Given the description of an element on the screen output the (x, y) to click on. 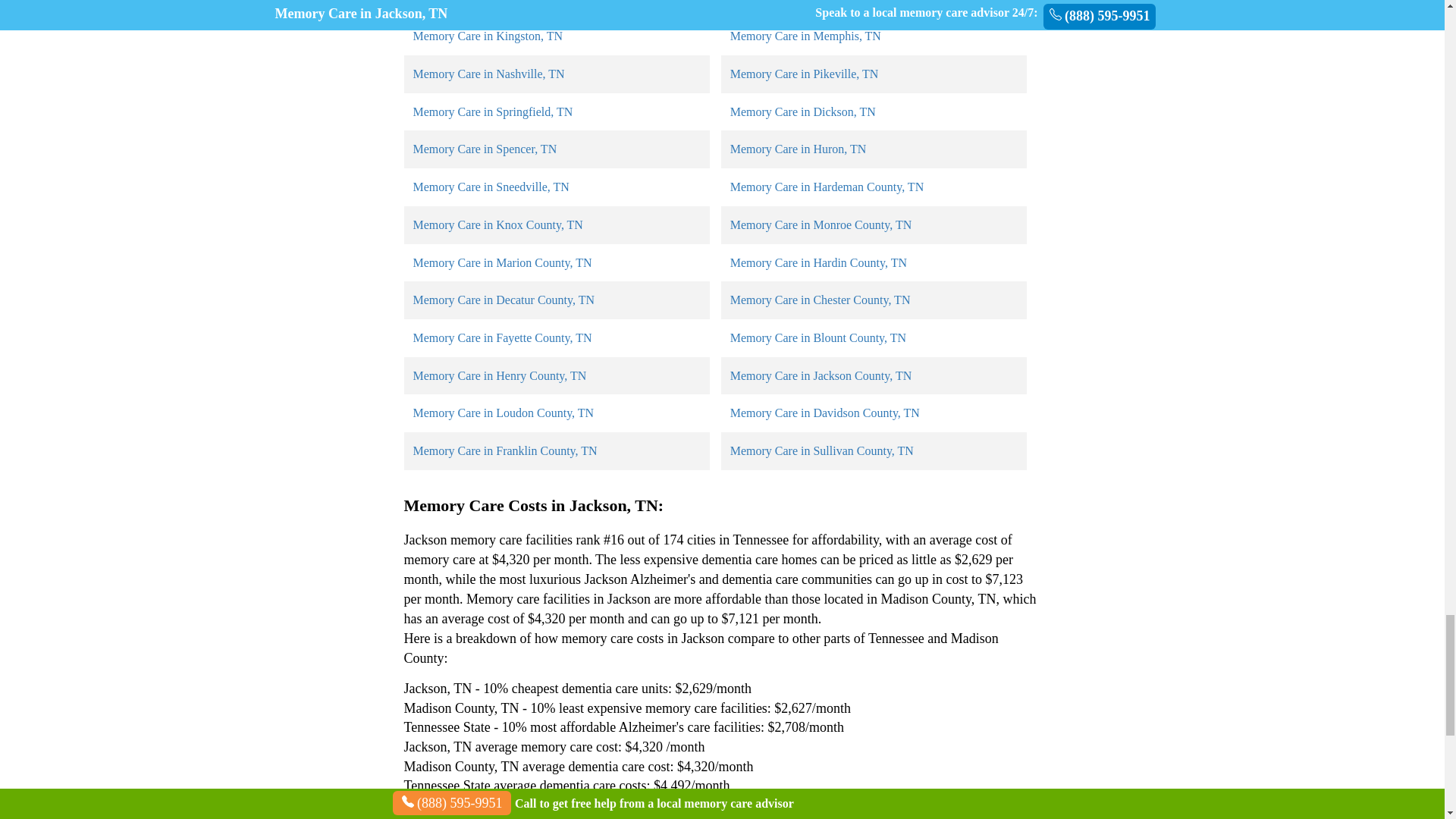
Memory Care in Pulaski, TN (800, 2)
Memory Care in Parsons, TN (484, 2)
